Given the description of an element on the screen output the (x, y) to click on. 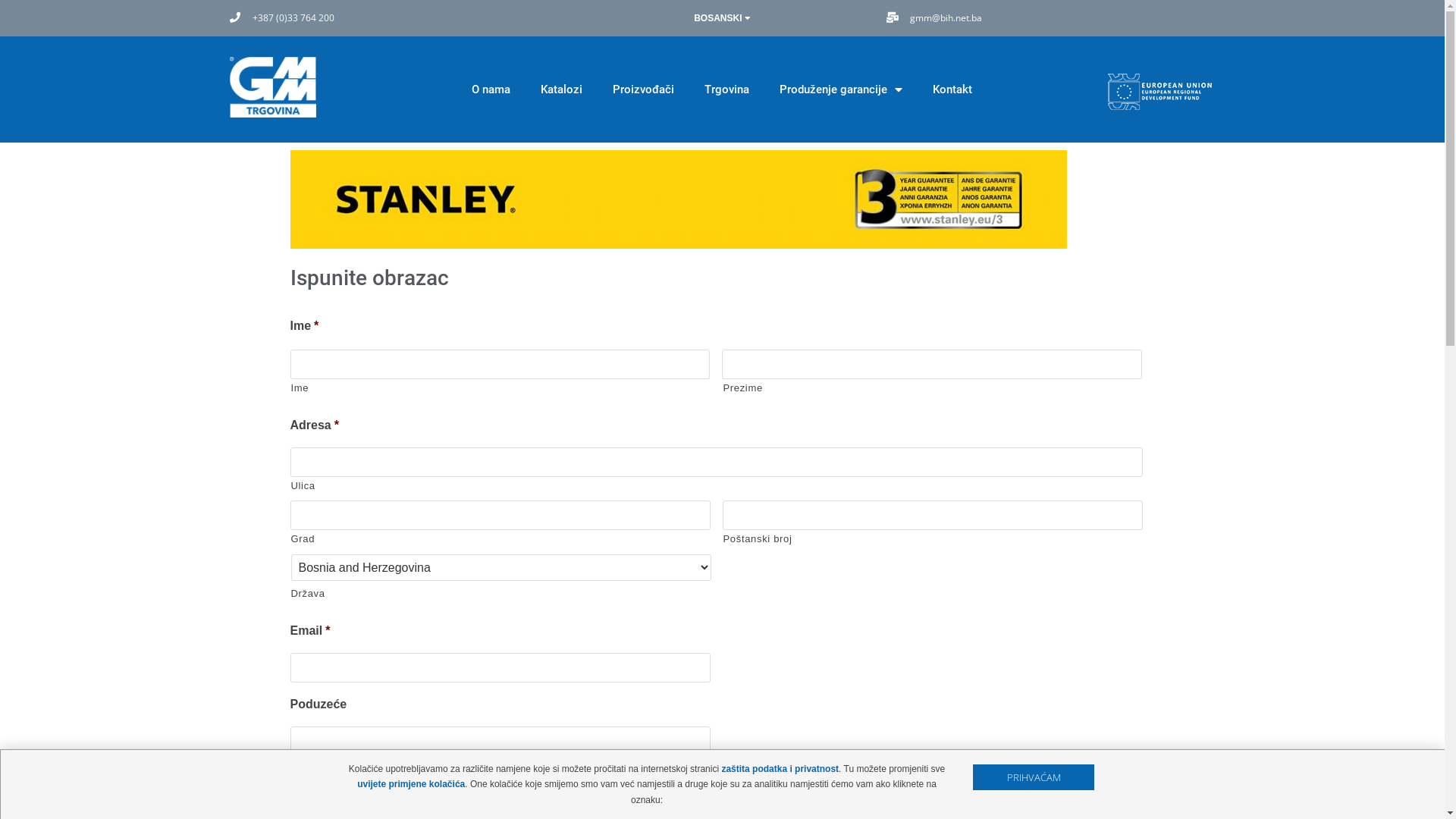
Trgovina Element type: text (726, 89)
Kontakt Element type: text (952, 89)
O nama Element type: text (490, 89)
gmm@bih.net.ba Element type: text (934, 17)
BOSANSKI Element type: text (721, 18)
Katalozi Element type: text (561, 89)
+387 (0)33 764 200 Element type: text (281, 17)
Skip to content Element type: text (15, 7)
